Given the description of an element on the screen output the (x, y) to click on. 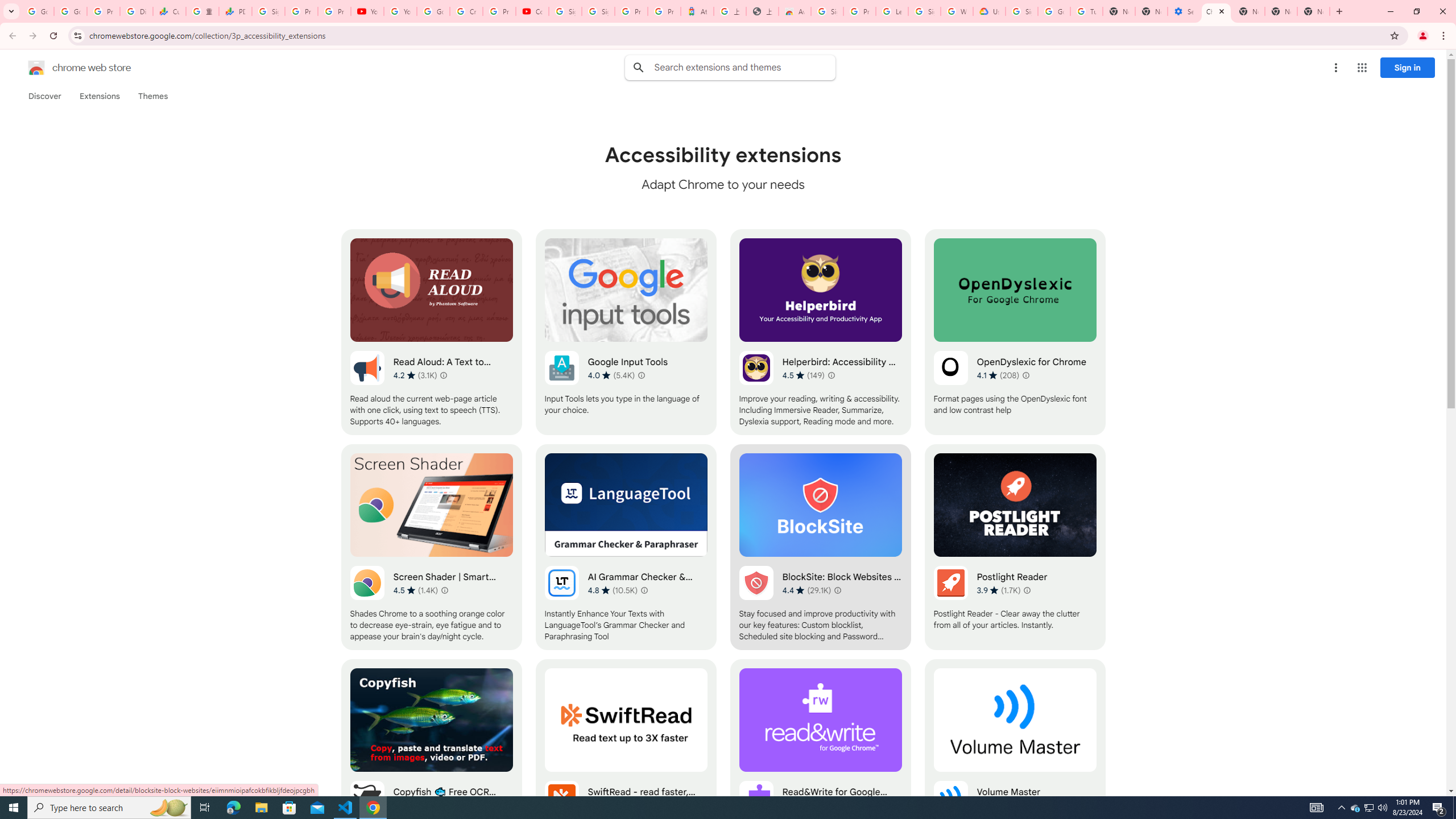
Average rating 3.9 out of 5 stars. 1.7K ratings. (998, 590)
Google Input Tools (625, 331)
Awesome Screen Recorder & Screenshot - Chrome Web Store (794, 11)
Settings - Accessibility (1183, 11)
Learn more about results and reviews "Google Input Tools" (641, 375)
Extensions (99, 95)
Average rating 4.2 out of 5 stars. 3.1K ratings. (414, 375)
